Given the description of an element on the screen output the (x, y) to click on. 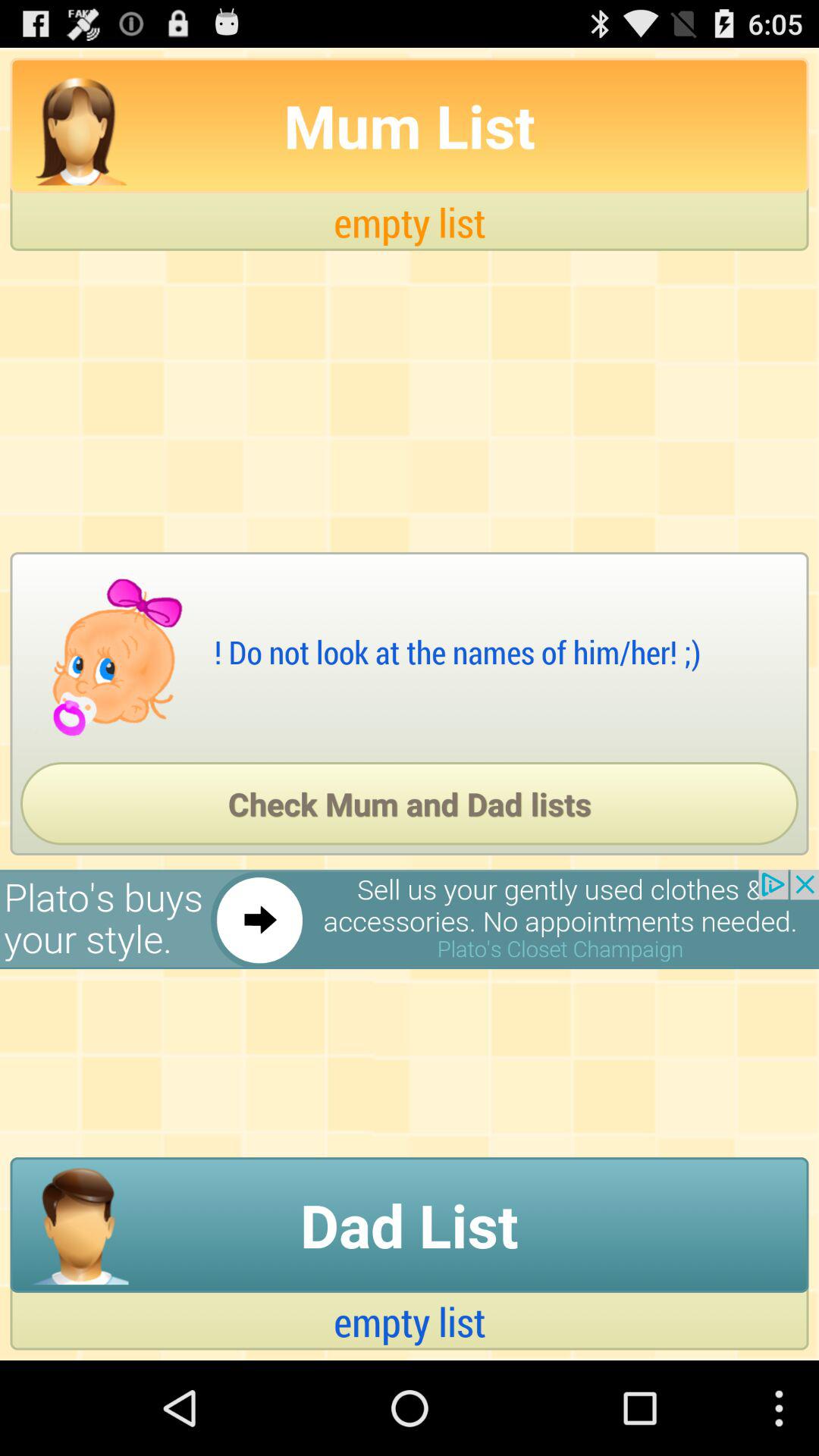
advertisement area (409, 919)
